Given the description of an element on the screen output the (x, y) to click on. 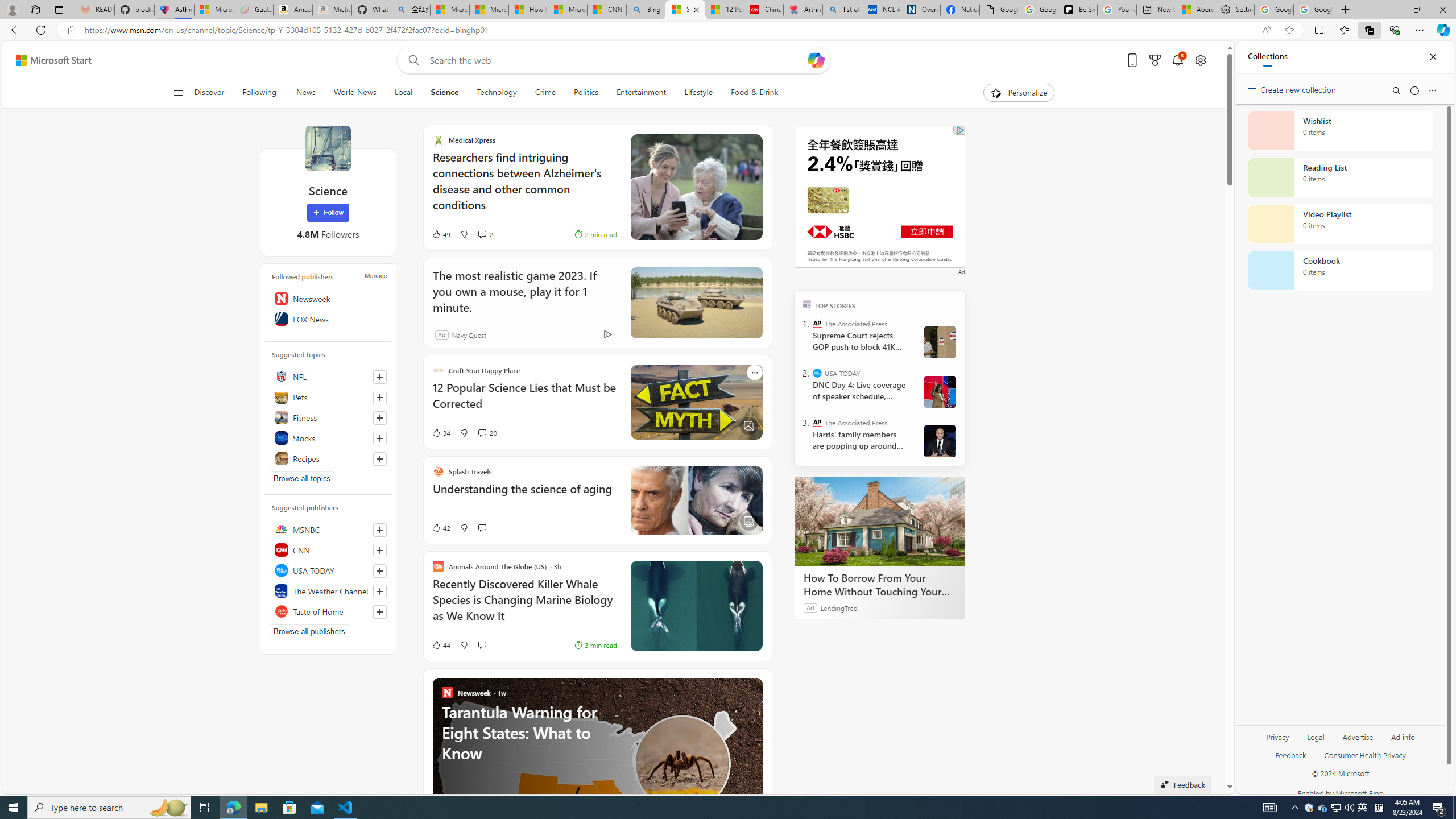
Science (444, 92)
